Given the description of an element on the screen output the (x, y) to click on. 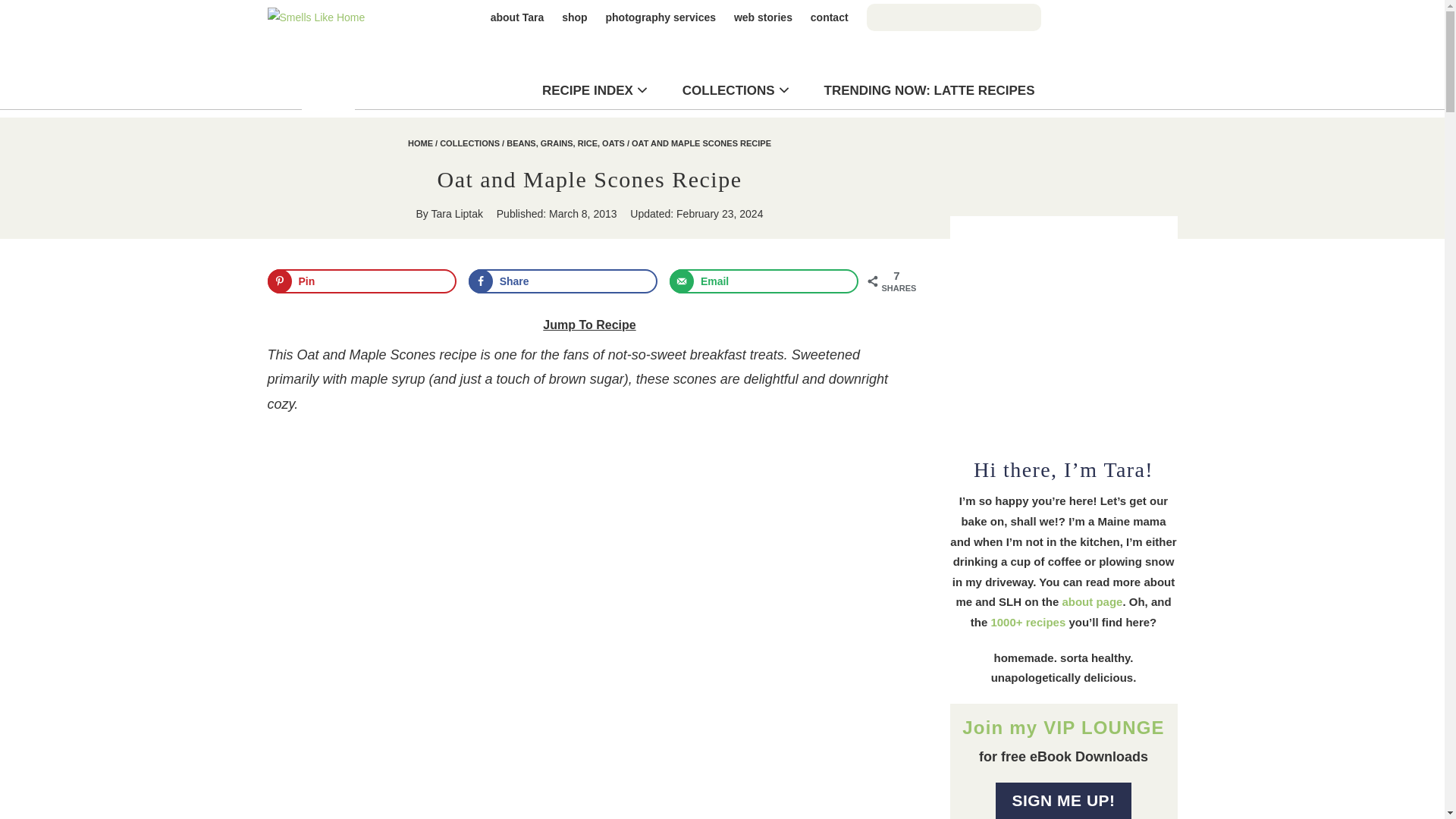
Share on Facebook (563, 281)
RECIPE INDEX (587, 90)
Search (787, 186)
Search (87, 13)
Save to Pinterest (361, 281)
web stories (762, 17)
about Tara (517, 17)
Send over email (764, 281)
shop (574, 17)
contact (829, 17)
